Given the description of an element on the screen output the (x, y) to click on. 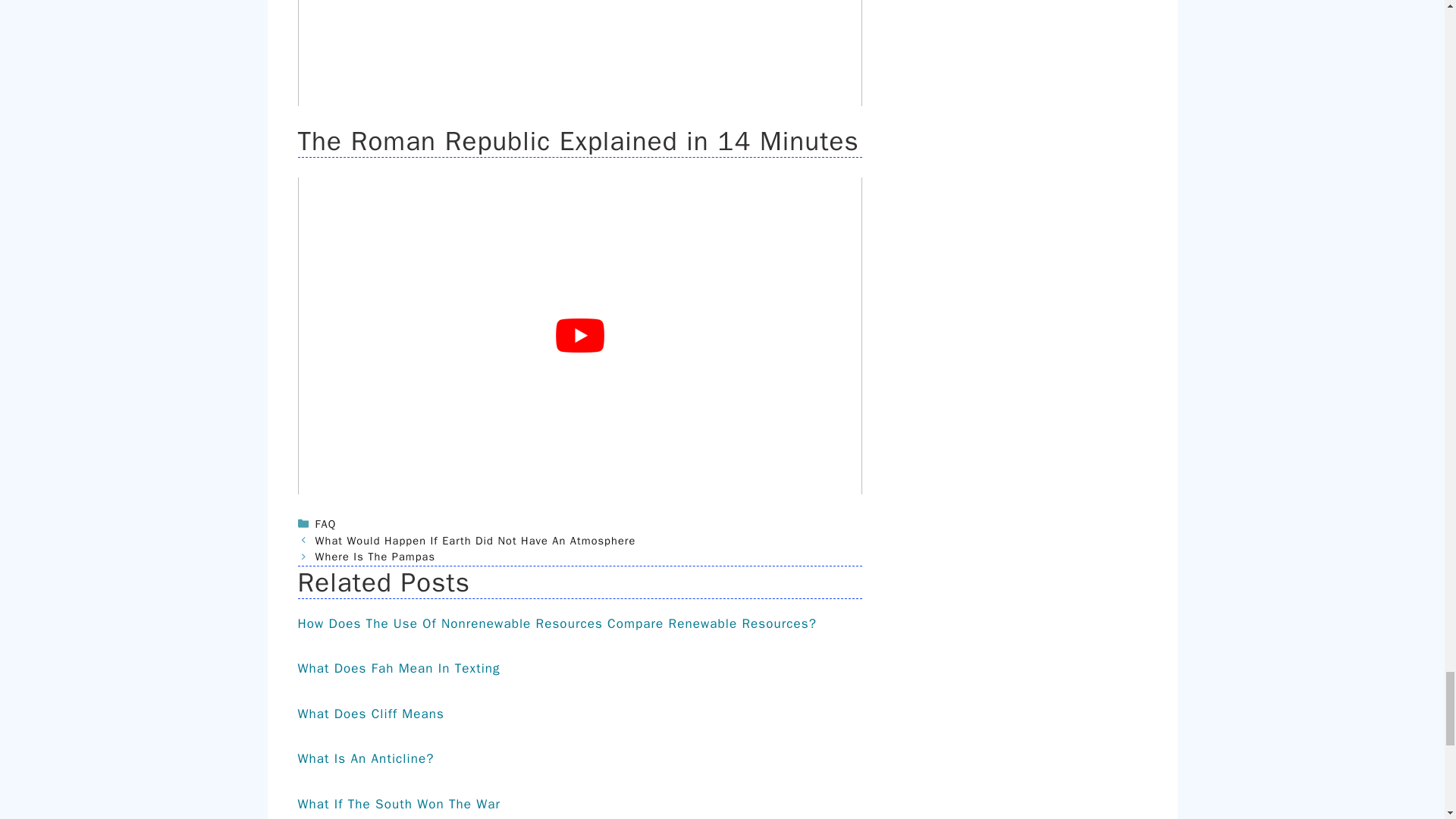
FAQ (325, 523)
What Does Cliff Means (370, 713)
What Does Fah Mean In Texting (398, 668)
What If The South Won The War (398, 804)
What Would Happen If Earth Did Not Have An Atmosphere (475, 540)
What Is An Anticline? (365, 758)
Where Is The Pampas (375, 556)
